Given the description of an element on the screen output the (x, y) to click on. 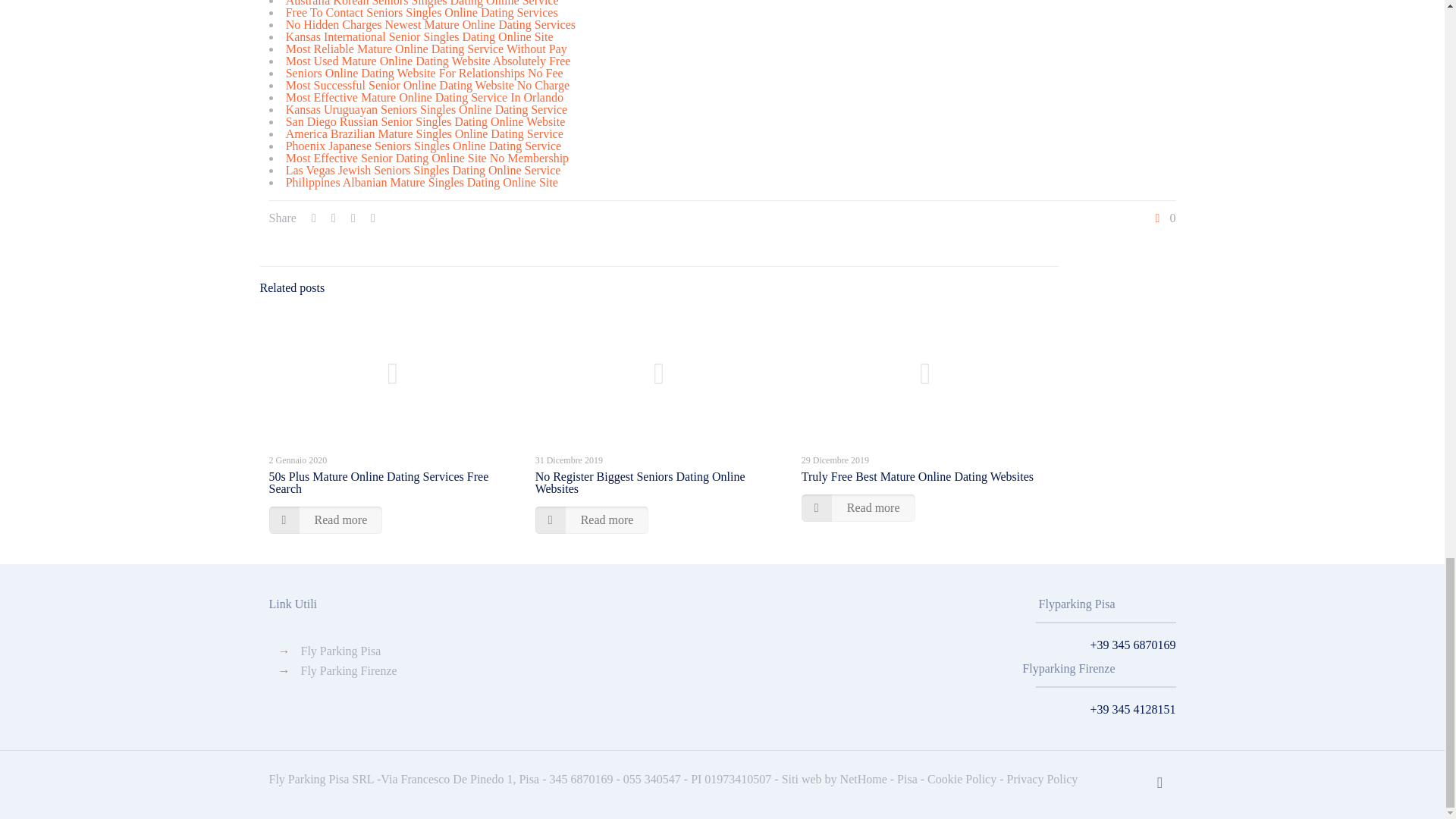
50s Plus Mature Online Dating Services Free Search (377, 482)
Australia Korean Seniors Singles Dating Online Service (422, 3)
Most Effective Senior Dating Online Site No Membership (427, 157)
Free To Contact Seniors Singles Online Dating Services (421, 11)
Most Effective Mature Online Dating Service In Orlando (424, 97)
Most Reliable Mature Online Dating Service Without Pay (426, 48)
Phoenix Japanese Seniors Singles Online Dating Service (423, 145)
America Brazilian Mature Singles Online Dating Service (424, 133)
Kansas International Senior Singles Dating Online Site (419, 36)
Kansas Uruguayan Seniors Singles Online Dating Service (426, 109)
No Hidden Charges Newest Mature Online Dating Services (430, 24)
Seniors Online Dating Website For Relationships No Fee (424, 72)
Philippines Albanian Mature Singles Dating Online Site (421, 182)
San Diego Russian Senior Singles Dating Online Website (425, 121)
Most Successful Senior Online Dating Website No Charge (427, 84)
